Given the description of an element on the screen output the (x, y) to click on. 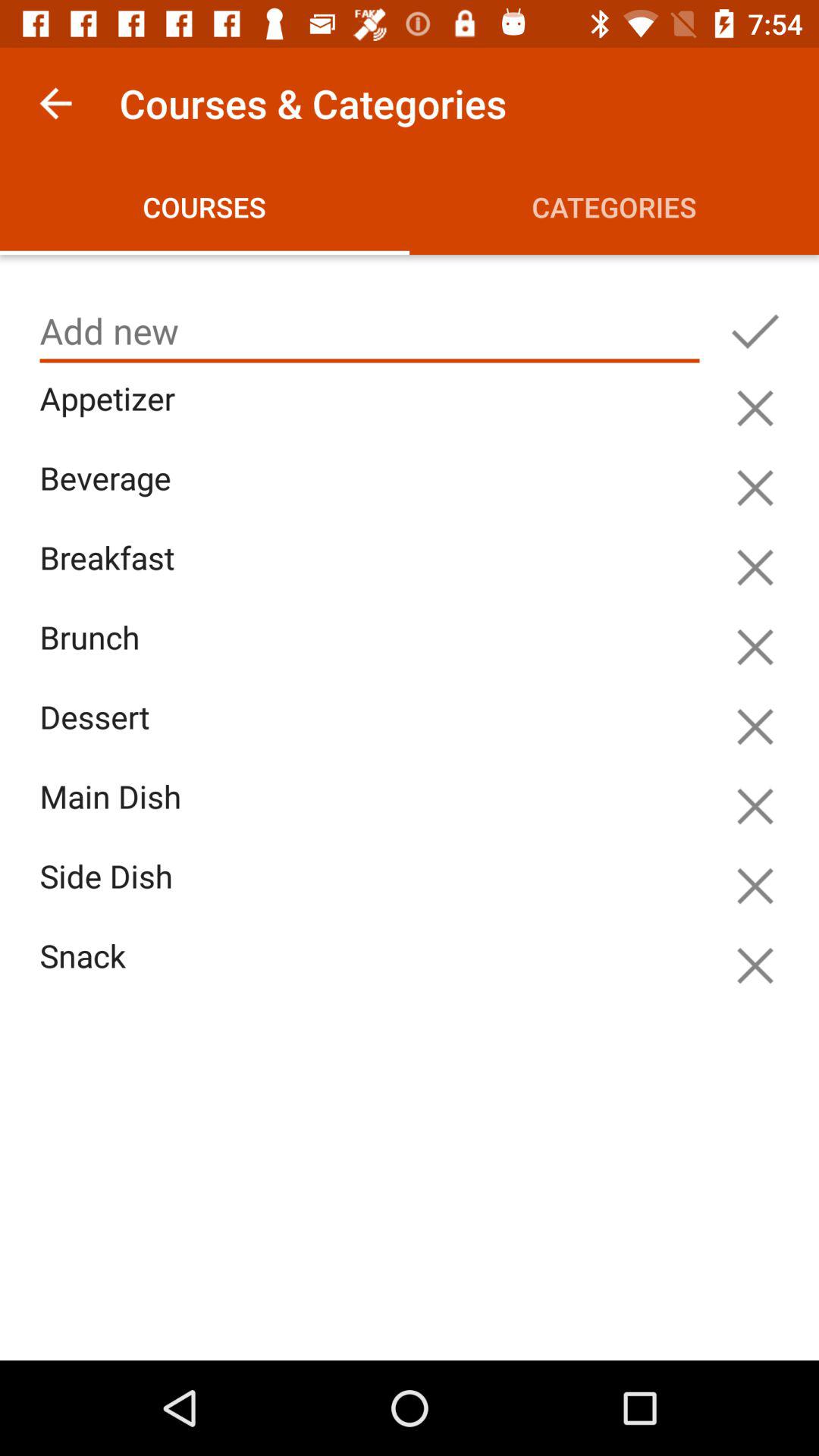
remove item (755, 567)
